Given the description of an element on the screen output the (x, y) to click on. 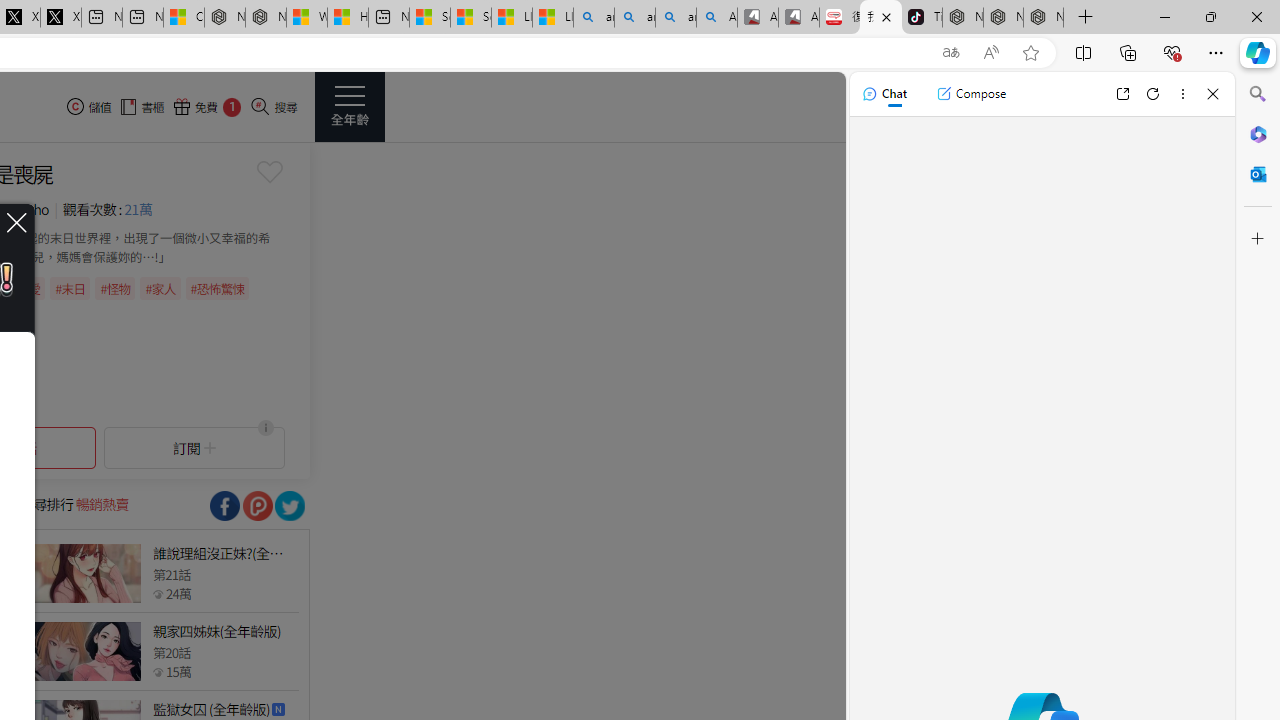
Customize (1258, 239)
Search (1258, 94)
Amazon Echo Robot - Search Images (717, 17)
Compose (971, 93)
Wildlife - MSN (306, 17)
Open link in new tab (1122, 93)
